Given the description of an element on the screen output the (x, y) to click on. 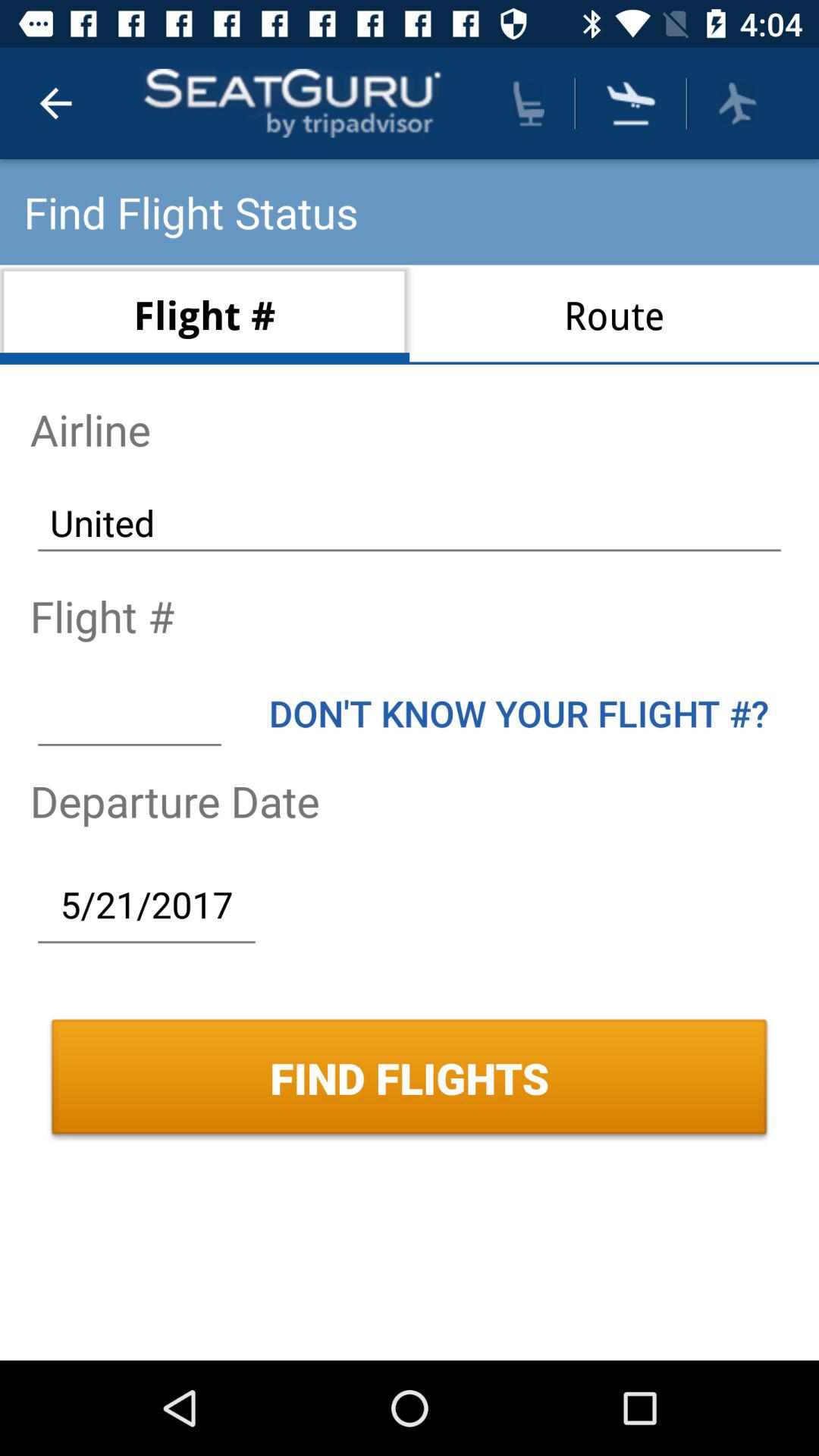
put the flight number (129, 712)
